Given the description of an element on the screen output the (x, y) to click on. 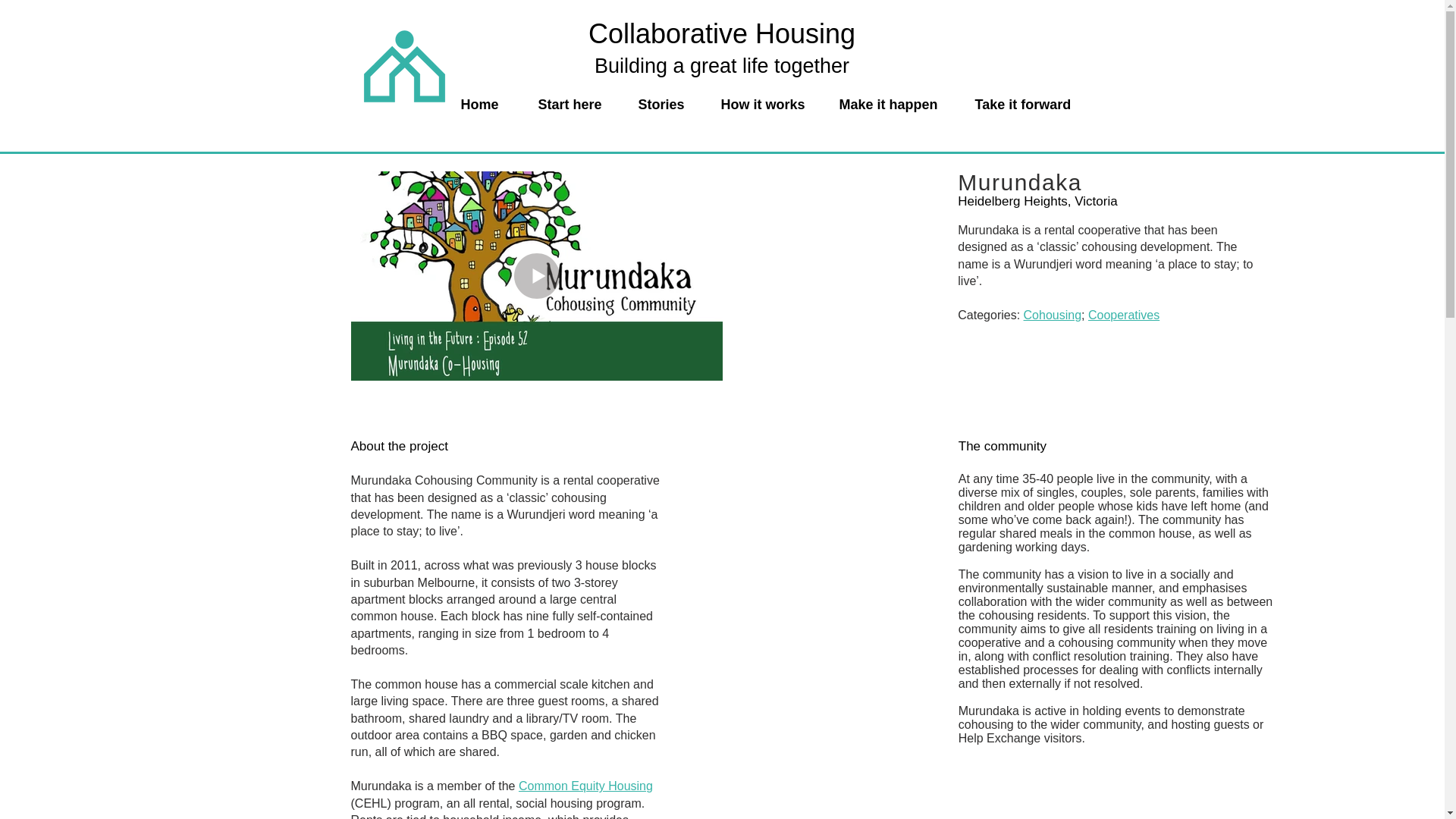
Collaborative Housing (722, 33)
Cohousing (1052, 314)
Home (488, 104)
Building a great life together (721, 65)
Cooperatives (1122, 314)
Common Equity Housing (585, 785)
